Given the description of an element on the screen output the (x, y) to click on. 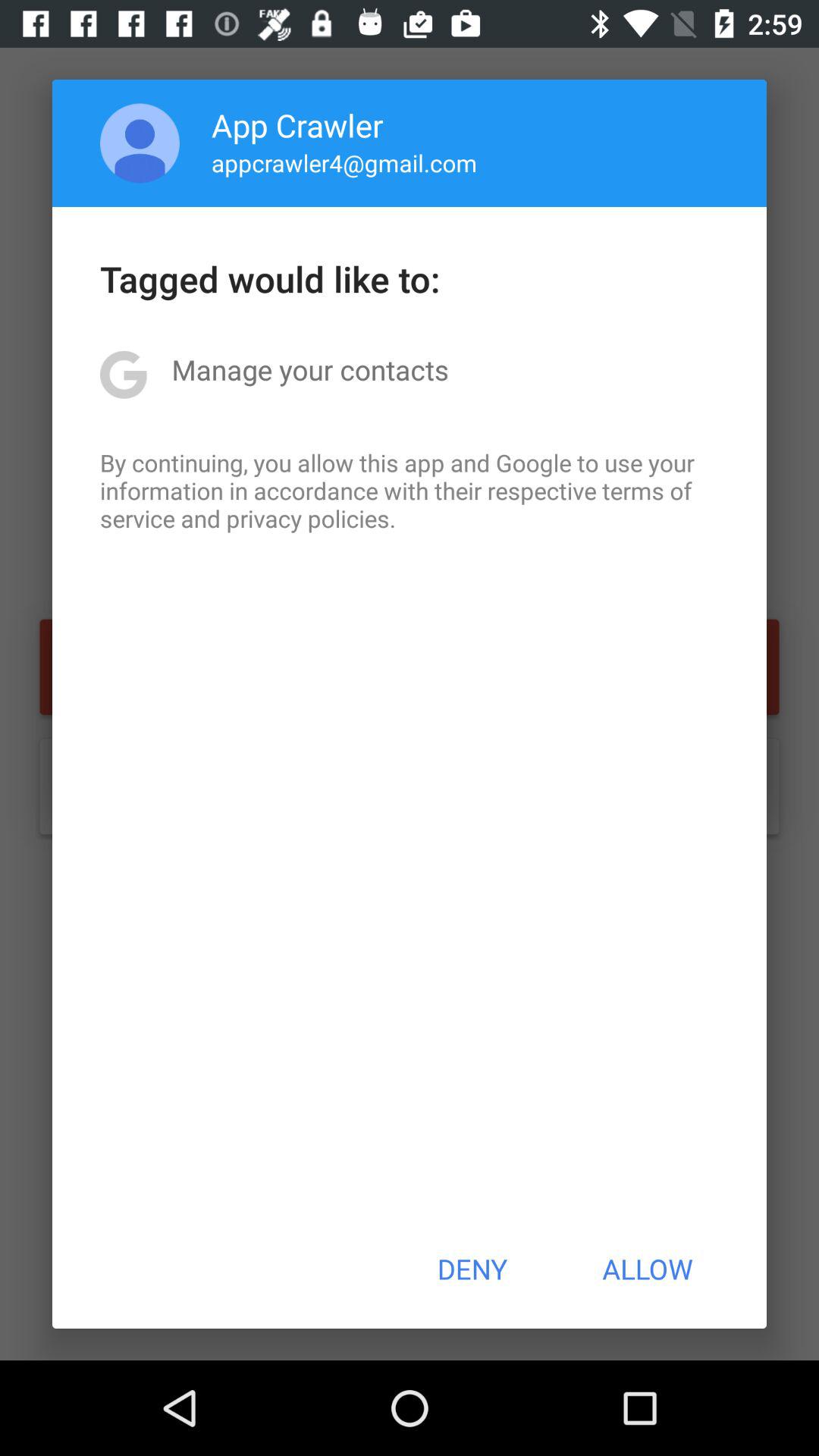
swipe to the app crawler item (297, 124)
